Given the description of an element on the screen output the (x, y) to click on. 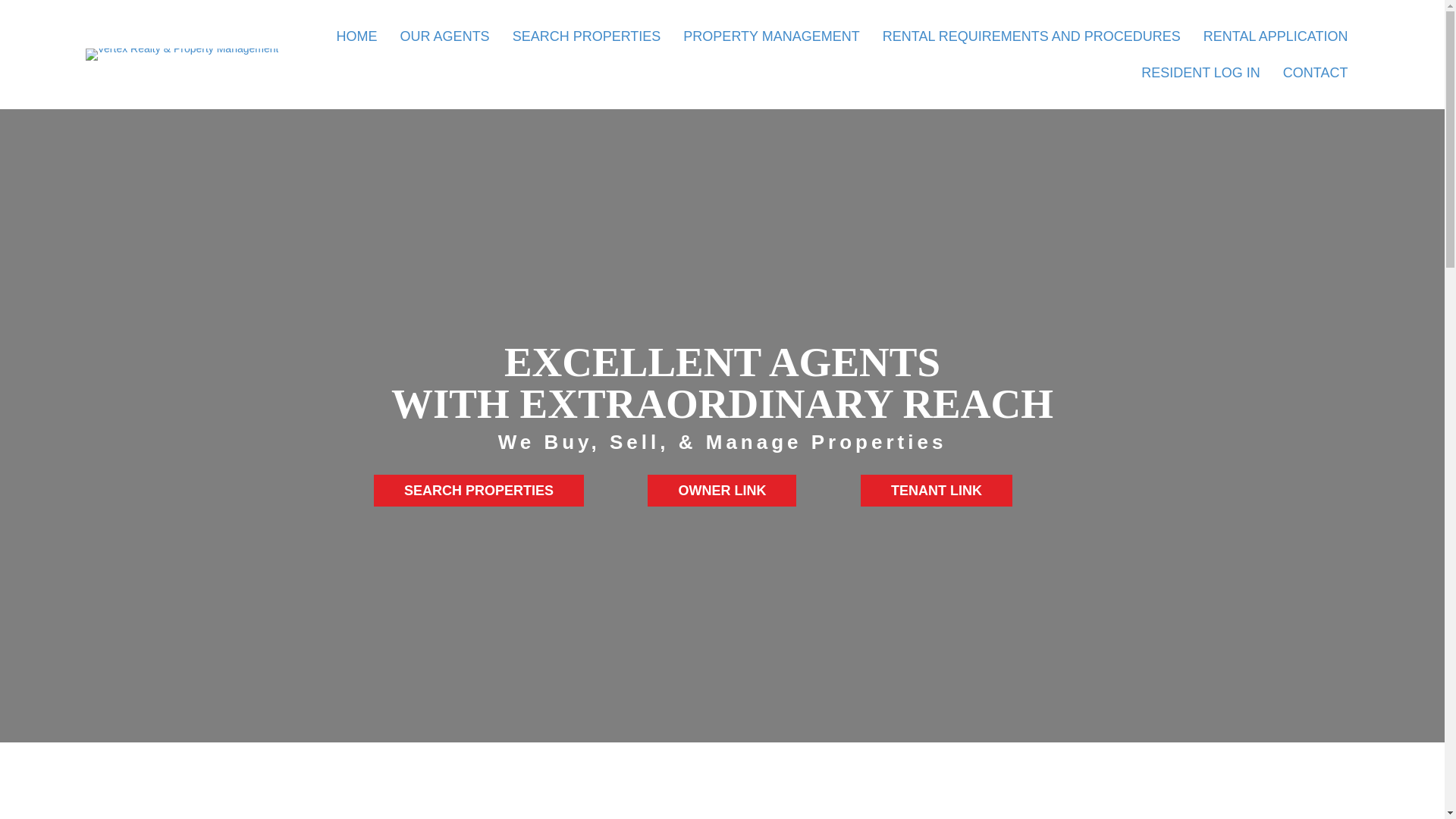
PROPERTY MANAGEMENT (770, 36)
SEARCH PROPERTIES (586, 36)
HOME (357, 36)
SEARCH PROPERTIES (478, 490)
RENTAL APPLICATION (1275, 36)
RESIDENT LOG IN (1201, 72)
CONTACT (1315, 72)
RENTAL REQUIREMENTS AND PROCEDURES (1031, 36)
OUR AGENTS (445, 36)
OWNER LINK (721, 490)
